Given the description of an element on the screen output the (x, y) to click on. 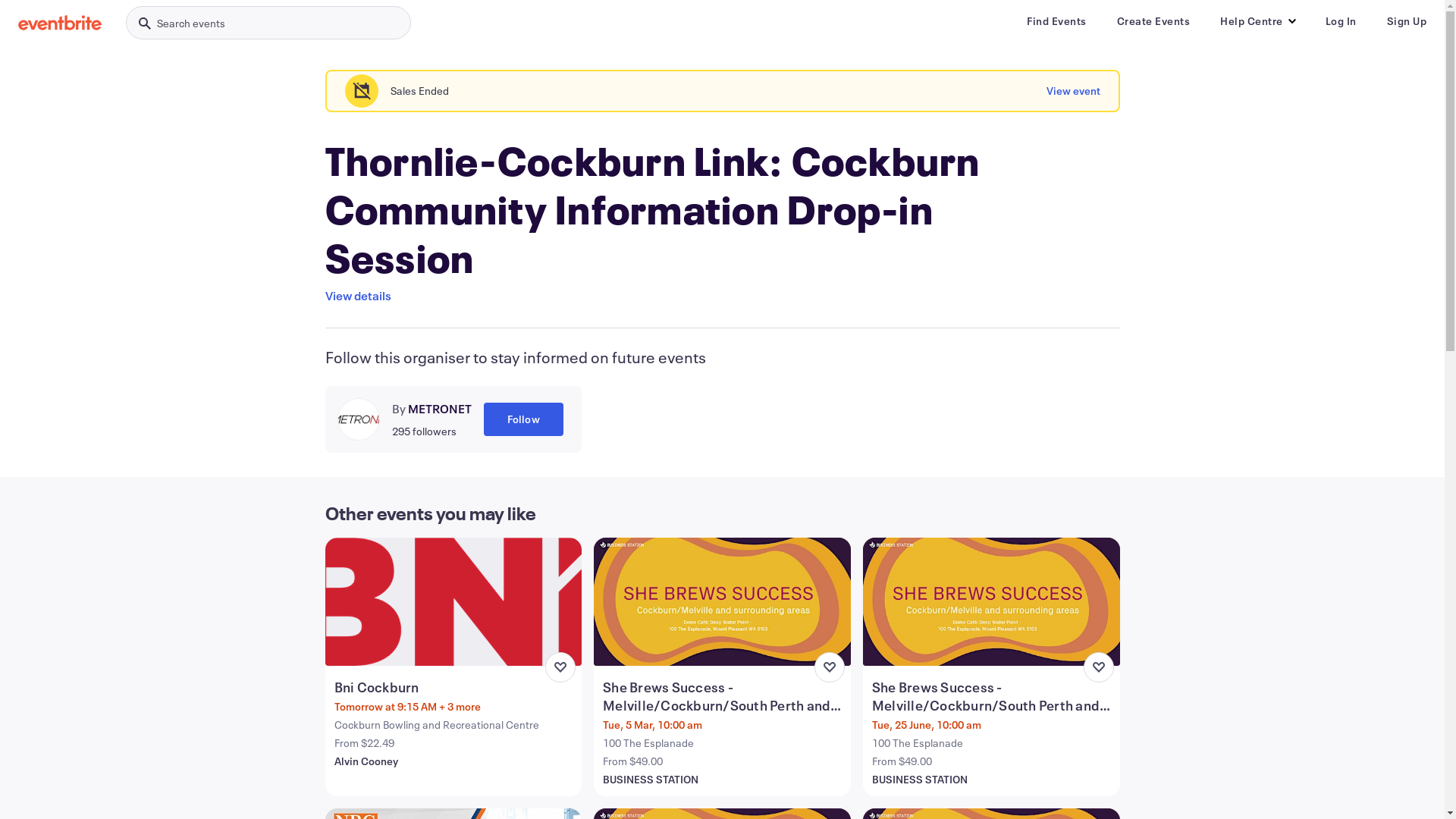
View details Element type: text (357, 295)
Eventbrite Element type: hover (59, 22)
Follow Element type: text (523, 419)
Find Events Element type: text (1056, 21)
Bni Cockburn Element type: text (454, 686)
Search events Element type: text (268, 22)
View event Element type: text (1073, 90)
Create Events Element type: text (1152, 21)
Log In Element type: text (1340, 21)
Sign Up Element type: text (1406, 21)
